Given the description of an element on the screen output the (x, y) to click on. 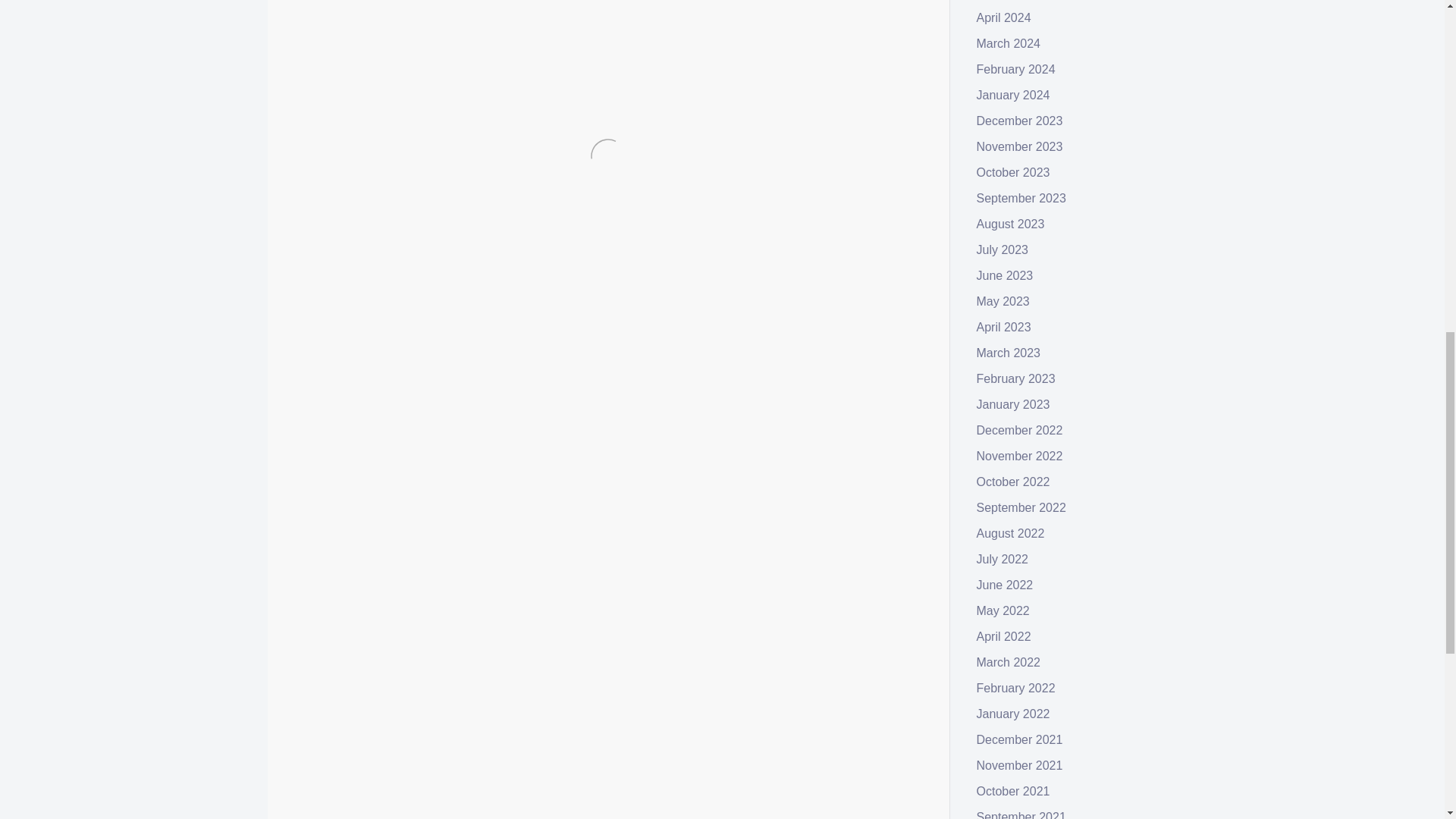
November 2023 (1019, 146)
October 2022 (1012, 481)
December 2022 (1019, 430)
February 2024 (1015, 69)
March 2023 (1008, 352)
February 2023 (1015, 378)
June 2023 (1004, 275)
December 2023 (1019, 120)
July 2023 (1002, 249)
January 2023 (1012, 404)
